Given the description of an element on the screen output the (x, y) to click on. 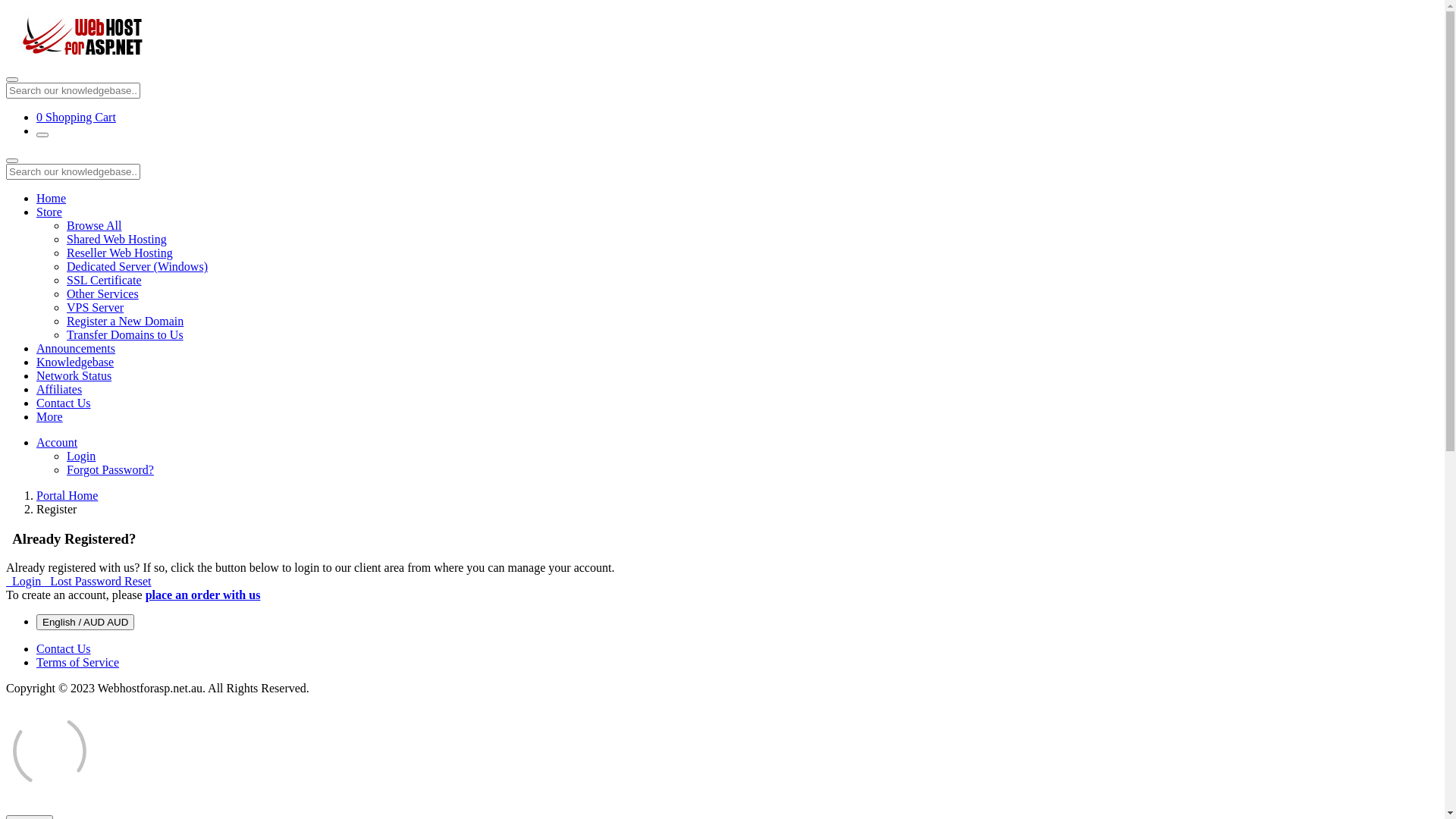
Home Element type: text (50, 197)
  Login Element type: text (24, 580)
0 Shopping Cart Element type: text (76, 116)
Affiliates Element type: text (58, 388)
Portal Home Element type: text (66, 495)
Browse All Element type: text (93, 225)
Contact Us Element type: text (63, 648)
  Lost Password Reset Element type: text (96, 580)
Login Element type: text (80, 455)
place an order with us Element type: text (202, 594)
Store Element type: text (49, 211)
VPS Server Element type: text (94, 307)
Reseller Web Hosting Element type: text (119, 252)
Network Status Element type: text (73, 375)
English / AUD AUD Element type: text (85, 622)
Announcements Element type: text (75, 348)
Dedicated Server (Windows) Element type: text (136, 266)
Forgot Password? Element type: text (109, 469)
Register a New Domain Element type: text (124, 320)
Knowledgebase Element type: text (74, 361)
More Element type: text (49, 416)
Transfer Domains to Us Element type: text (124, 334)
SSL Certificate Element type: text (103, 279)
Other Services Element type: text (102, 293)
Terms of Service Element type: text (77, 661)
Account Element type: text (56, 442)
Shared Web Hosting Element type: text (116, 238)
Contact Us Element type: text (63, 402)
